Given the description of an element on the screen output the (x, y) to click on. 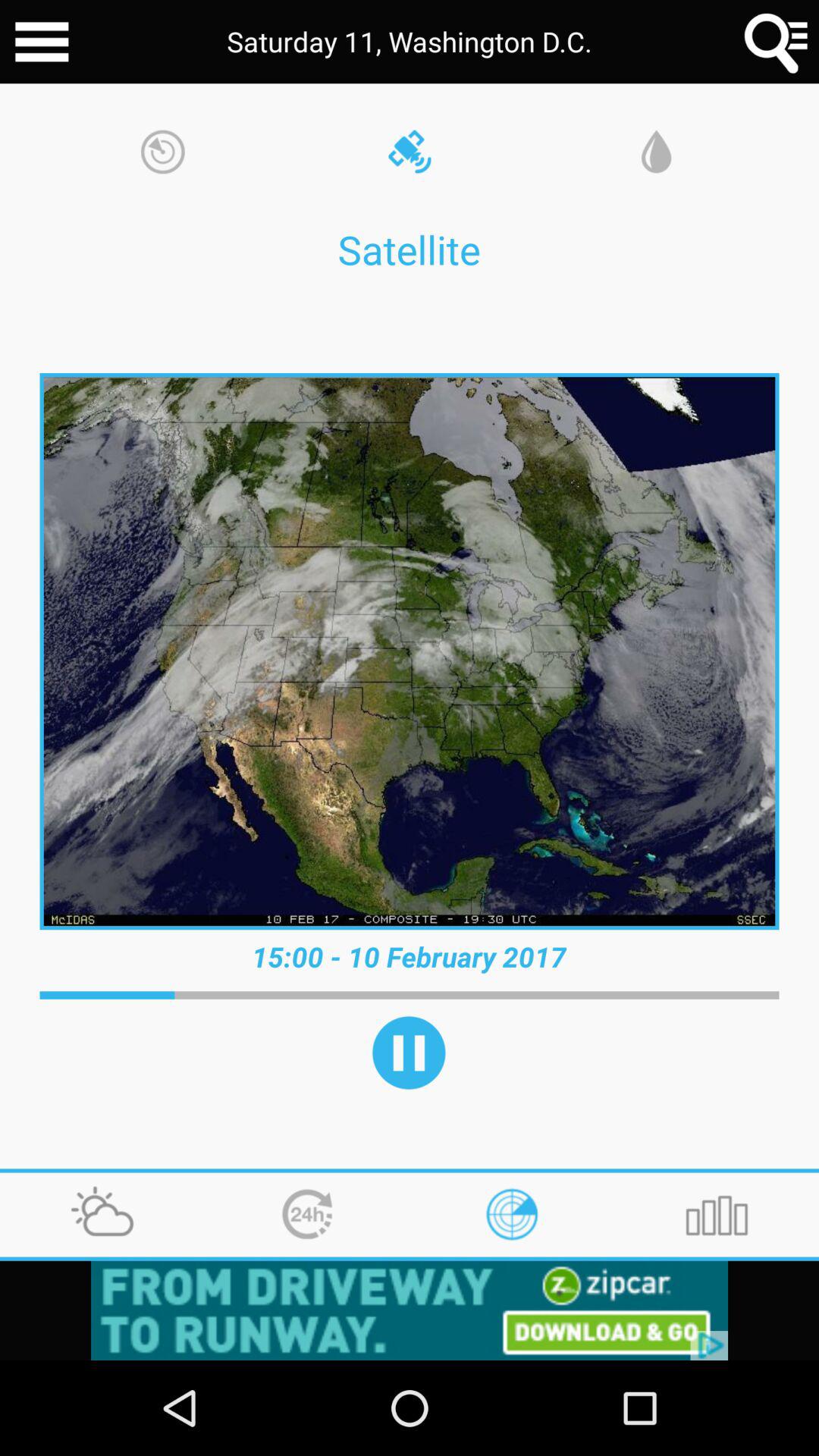
search option (777, 41)
